Given the description of an element on the screen output the (x, y) to click on. 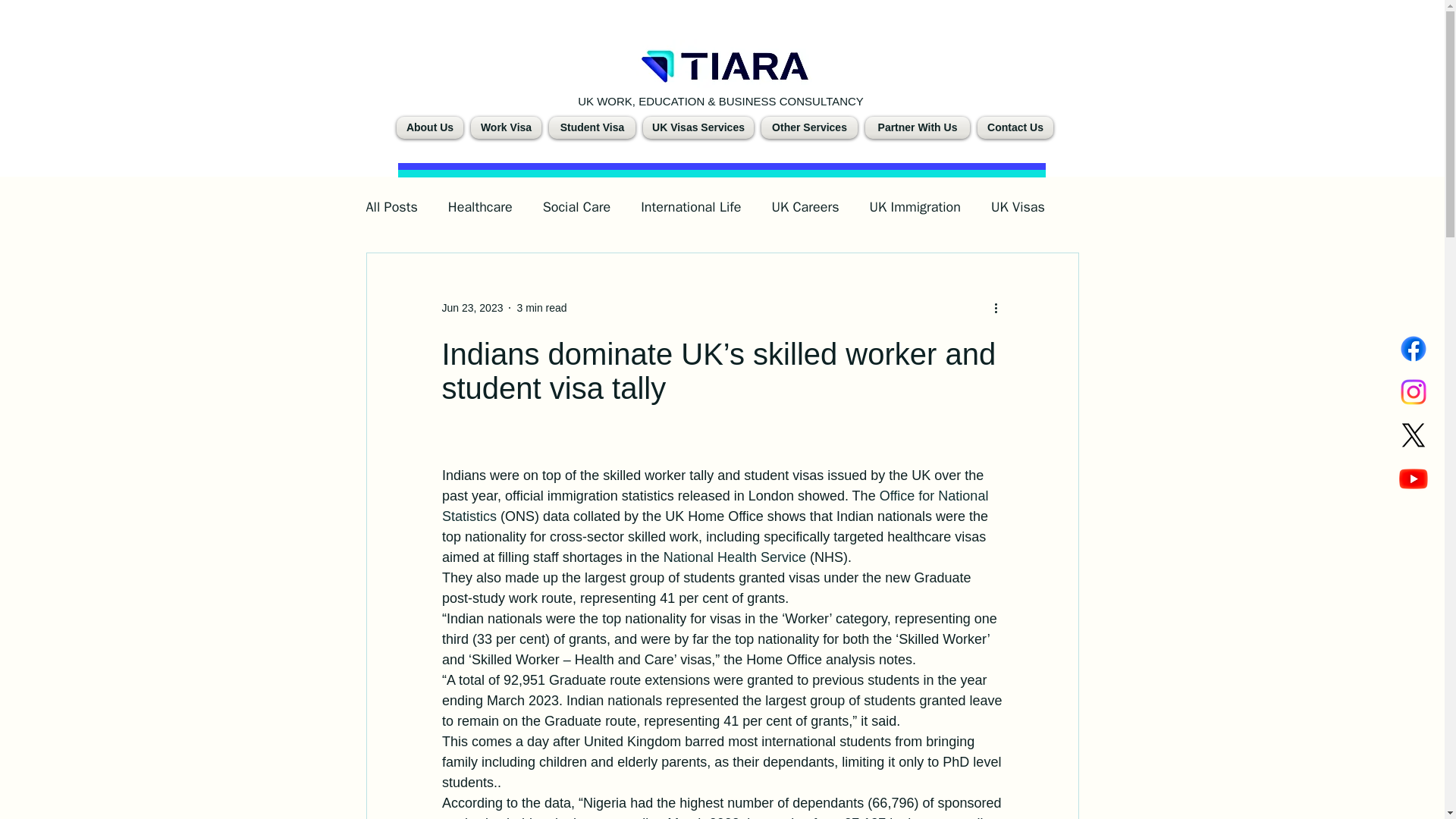
Jun 23, 2023 (471, 307)
Work Visa (505, 127)
Student Visa (591, 127)
3 min read (541, 307)
